Given the description of an element on the screen output the (x, y) to click on. 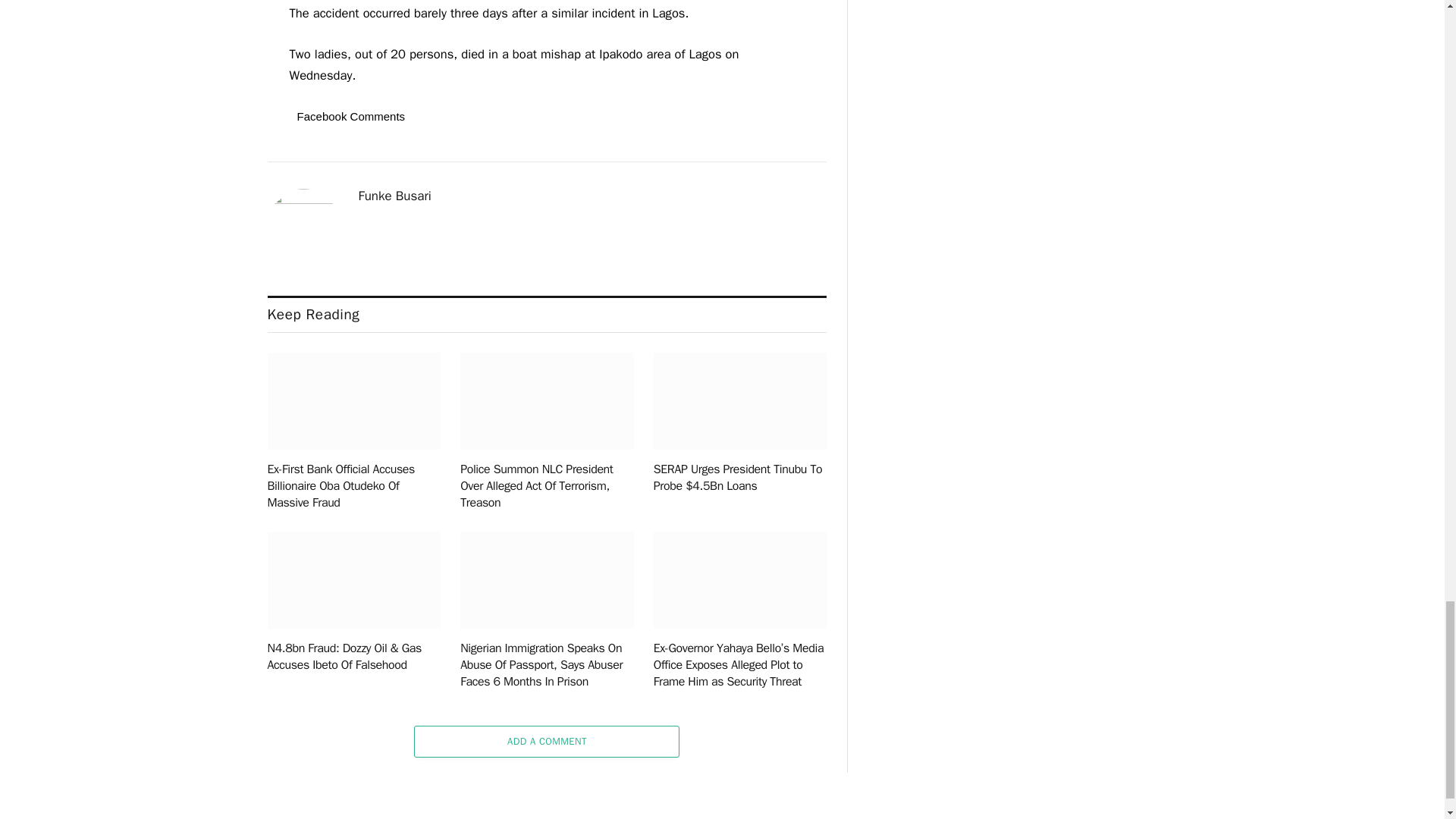
Posts by Funke Busari (394, 196)
